Given the description of an element on the screen output the (x, y) to click on. 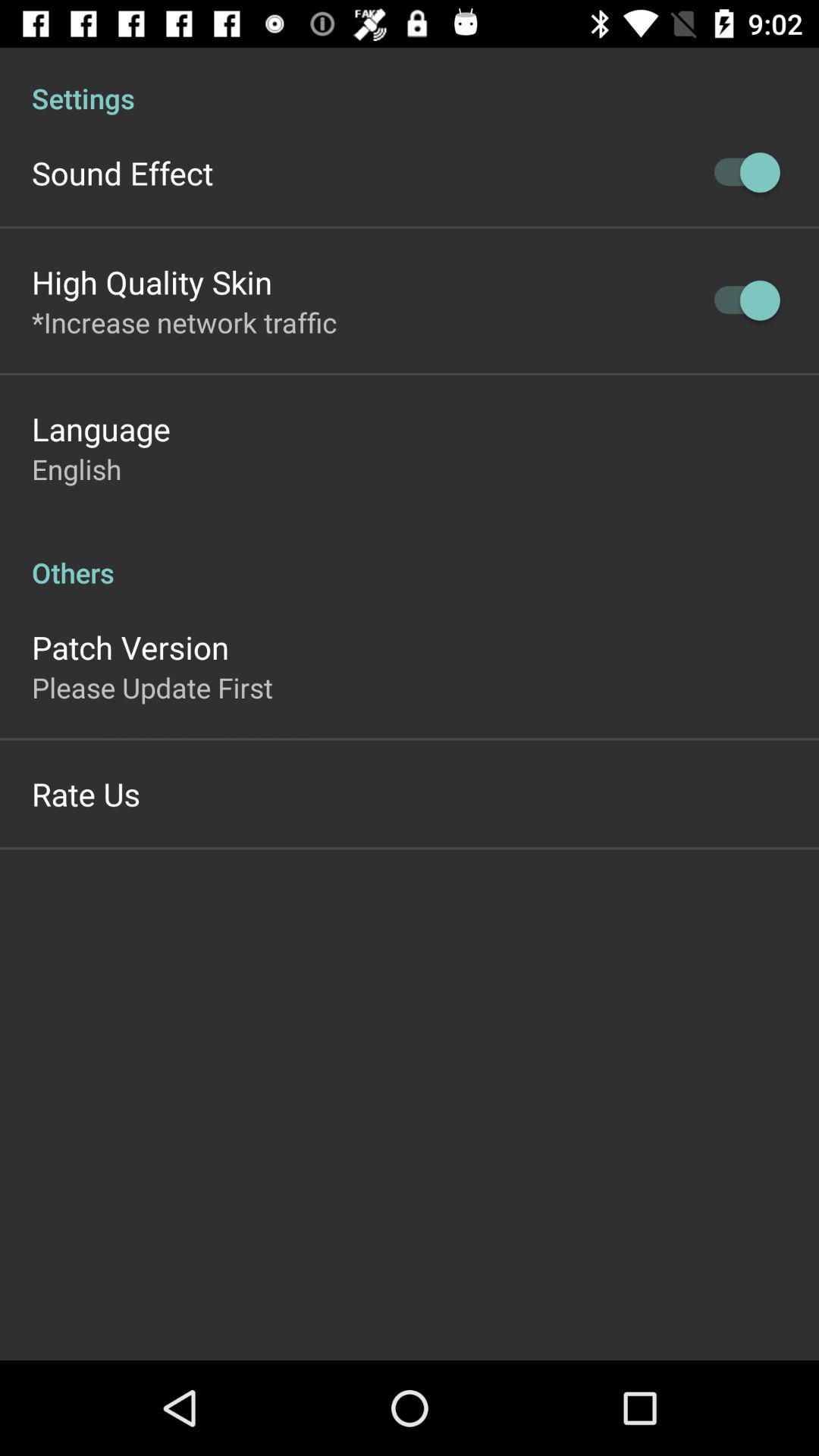
scroll until english icon (76, 468)
